Given the description of an element on the screen output the (x, y) to click on. 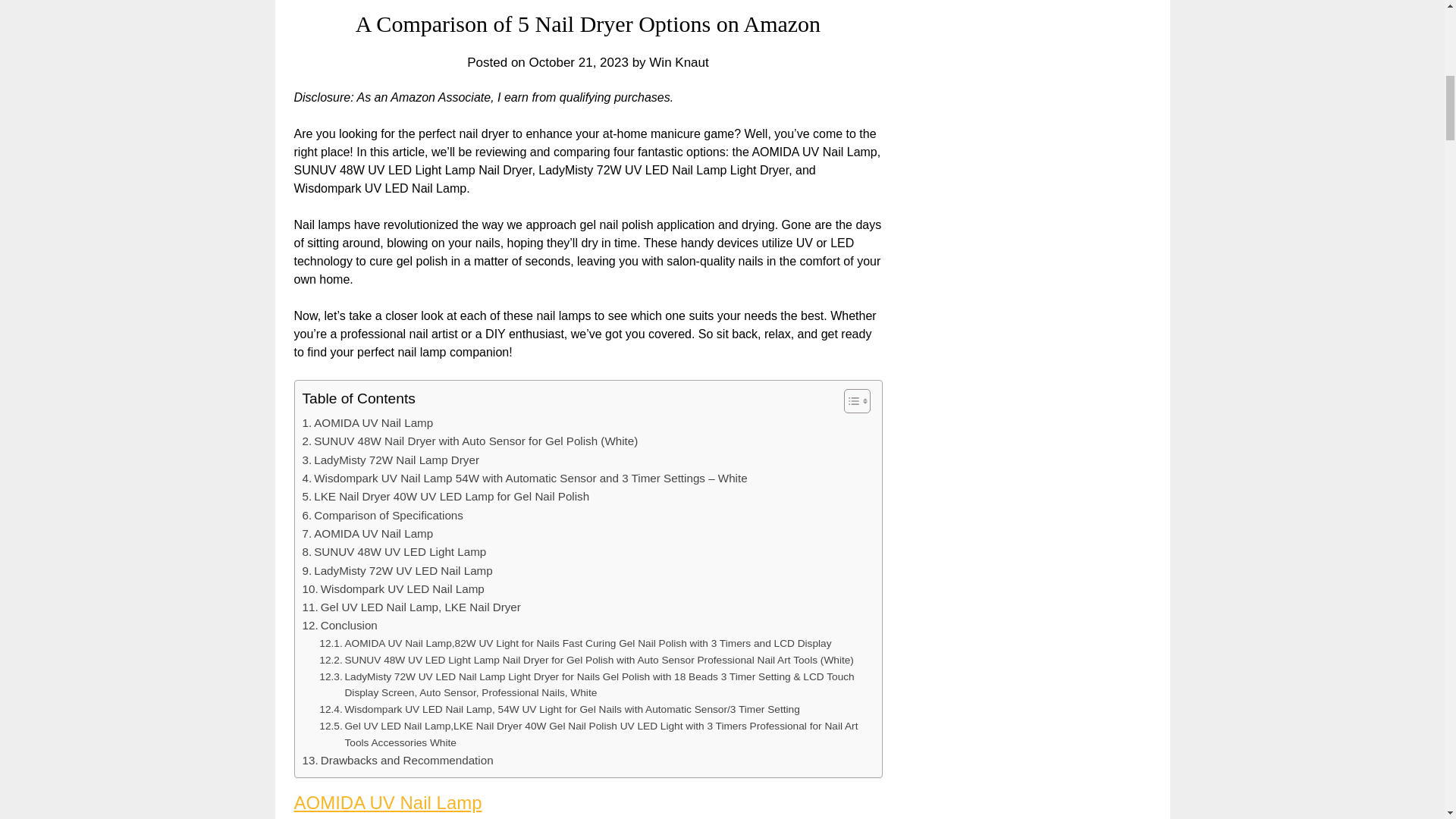
AOMIDA UV Nail Lamp (366, 533)
AOMIDA UV Nail Lamp (366, 423)
SUNUV 48W UV LED Light Lamp (393, 551)
LadyMisty 72W UV LED Nail Lamp (396, 570)
AOMIDA UV Nail Lamp (387, 802)
Comparison of Specifications (382, 515)
Gel UV LED Nail Lamp, LKE Nail Dryer (410, 607)
LadyMisty 72W Nail Lamp Dryer (390, 460)
Comparison of Specifications (382, 515)
